Given the description of an element on the screen output the (x, y) to click on. 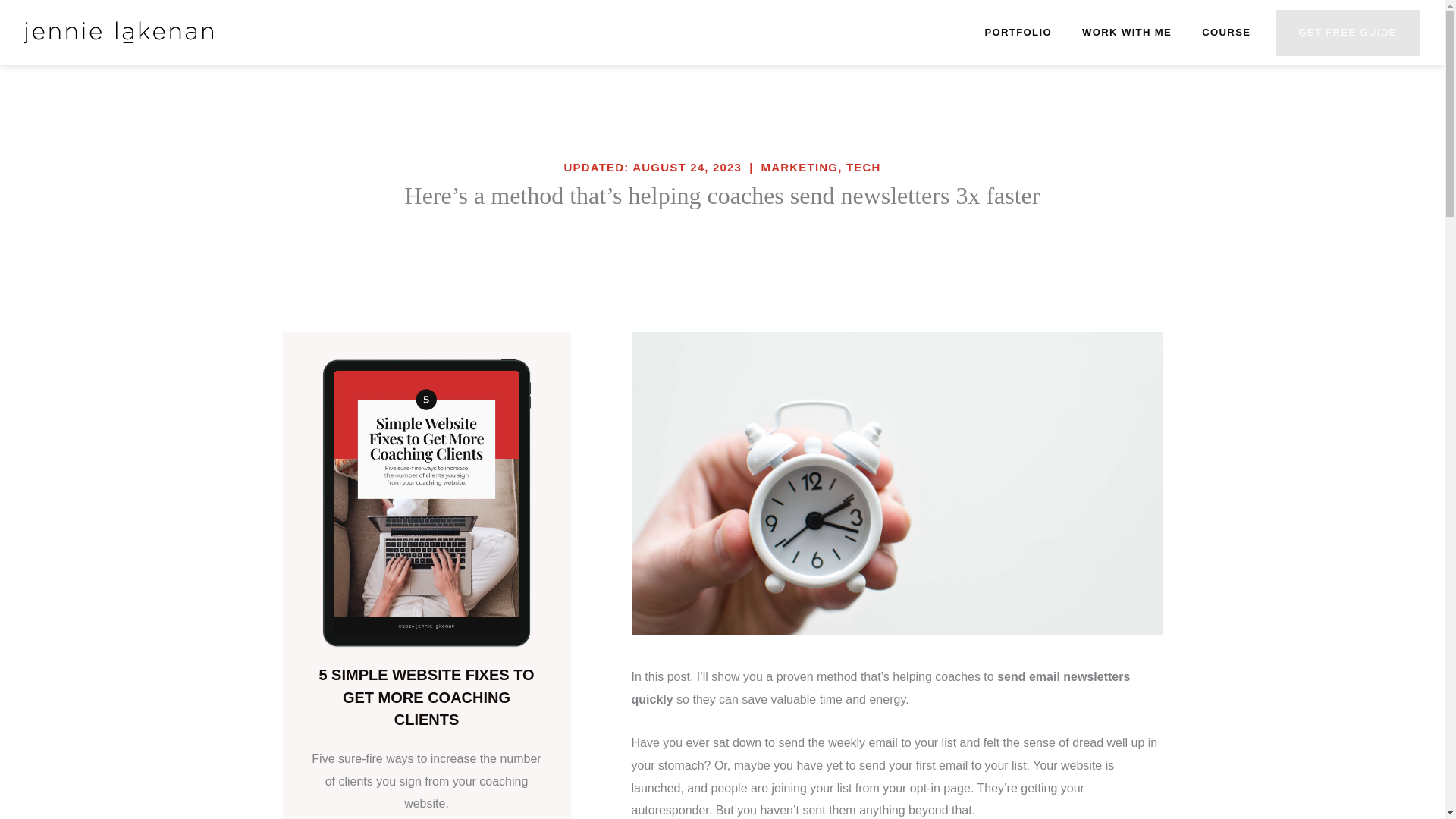
GET FREE GUIDE (1346, 32)
PORTFOLIO (1018, 32)
COURSE (1225, 32)
WORK WITH ME (1126, 32)
MARKETING (799, 166)
TECH (862, 166)
